Given the description of an element on the screen output the (x, y) to click on. 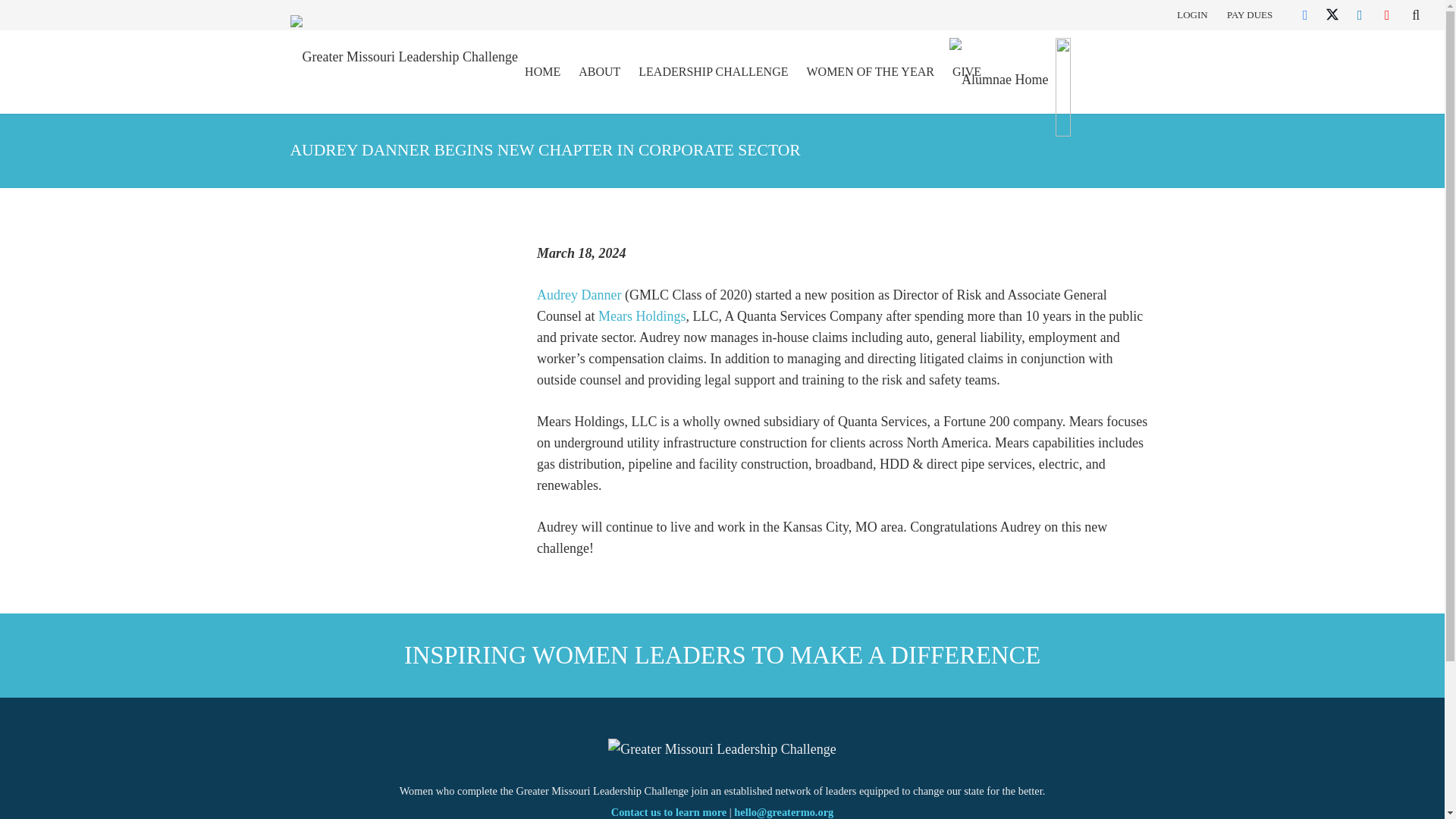
Facebook (1305, 14)
PAY DUES (1249, 14)
WOMEN OF THE YEAR (869, 71)
Twitter (1332, 14)
LEADERSHIP CHALLENGE (712, 71)
YouTube (1386, 14)
LinkedIn (1359, 14)
LOGIN (1191, 14)
